Given the description of an element on the screen output the (x, y) to click on. 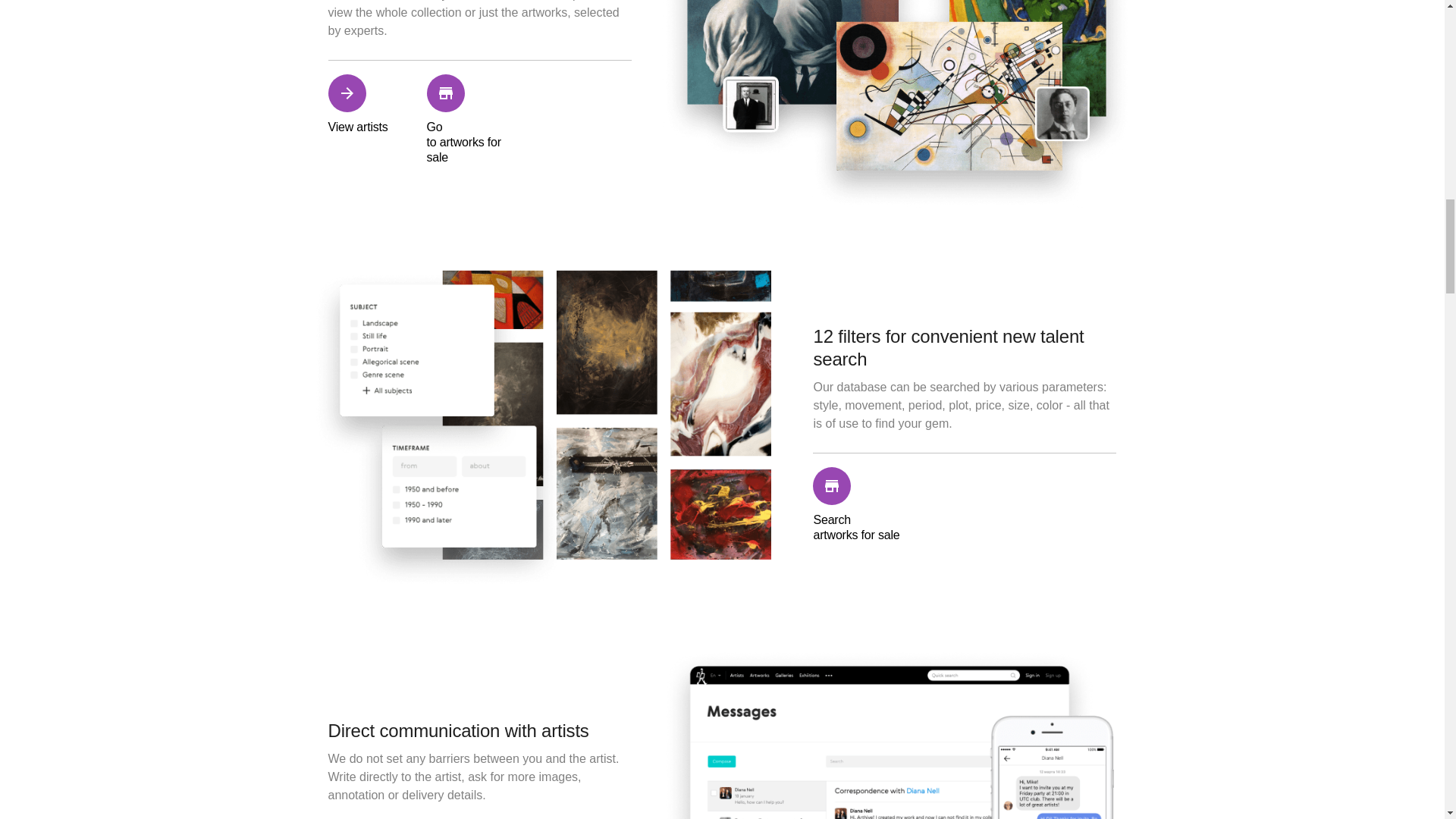
Search artworks for sale (858, 504)
Go to artworks for sale (471, 119)
View artists (373, 119)
